Given the description of an element on the screen output the (x, y) to click on. 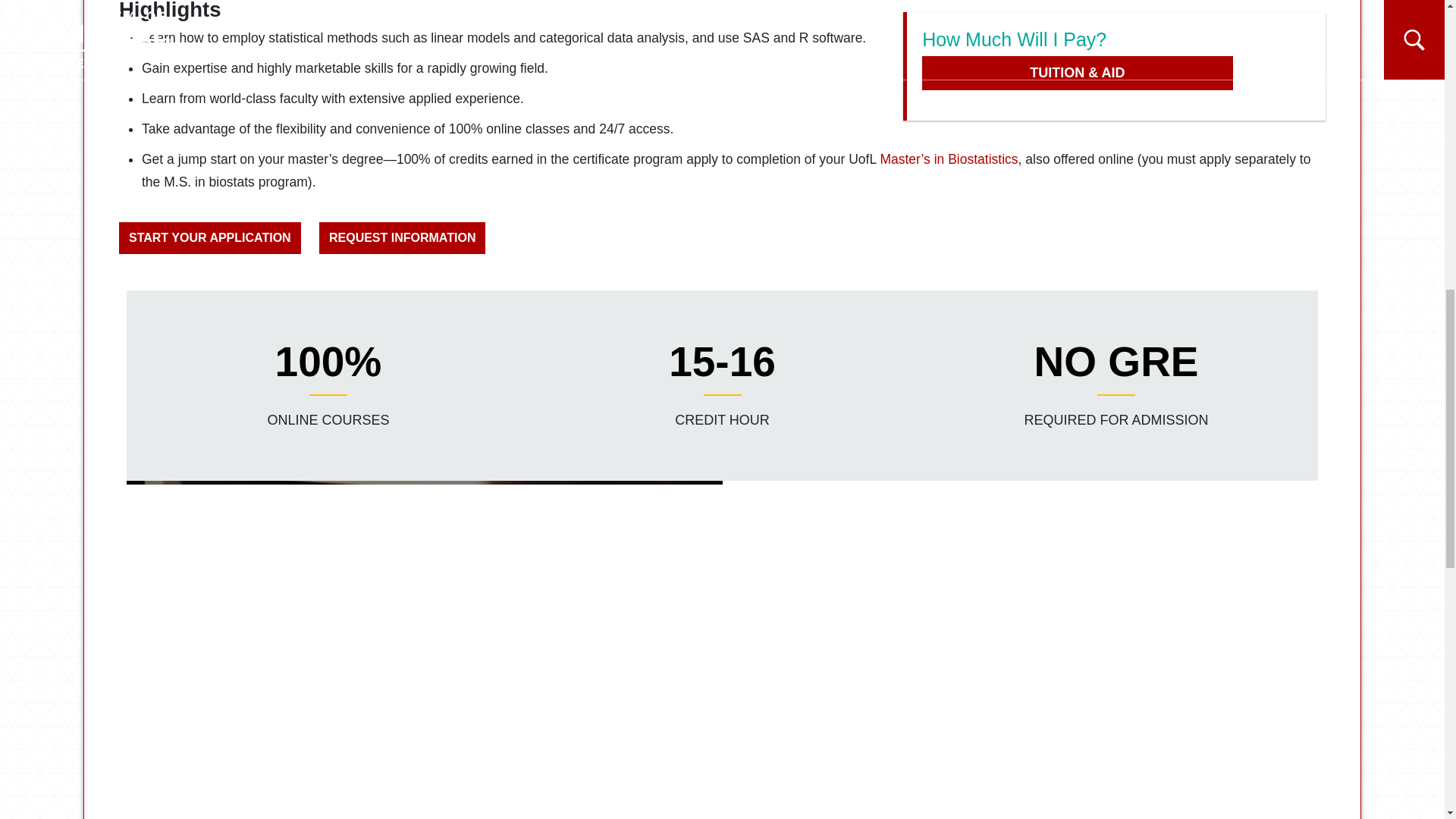
REQUEST INFORMATION (401, 237)
START YOUR APPLICATION (210, 237)
